Given the description of an element on the screen output the (x, y) to click on. 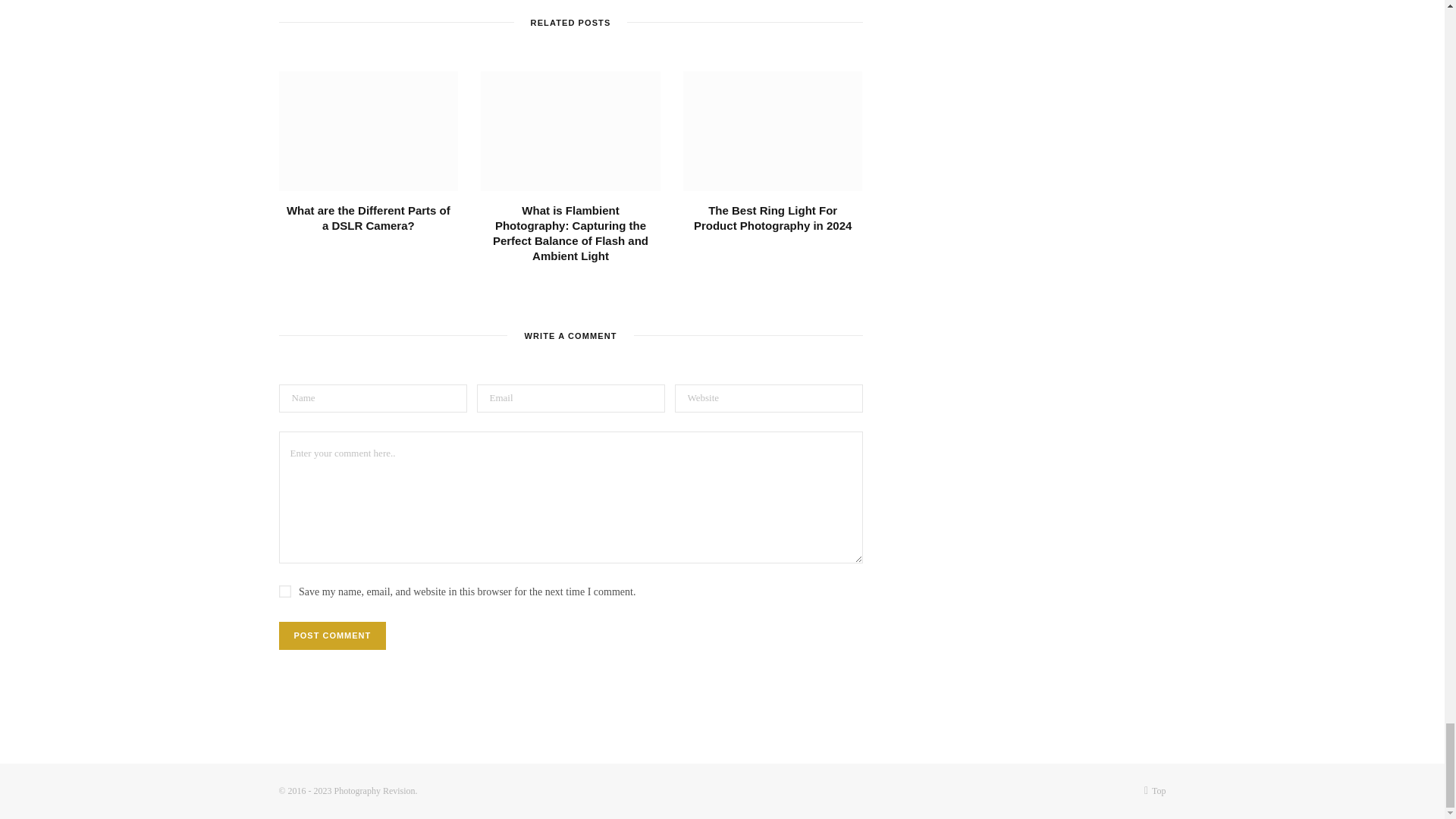
Post Comment (333, 635)
What are the Different Parts of a DSLR Camera? (368, 130)
yes (285, 591)
